Given the description of an element on the screen output the (x, y) to click on. 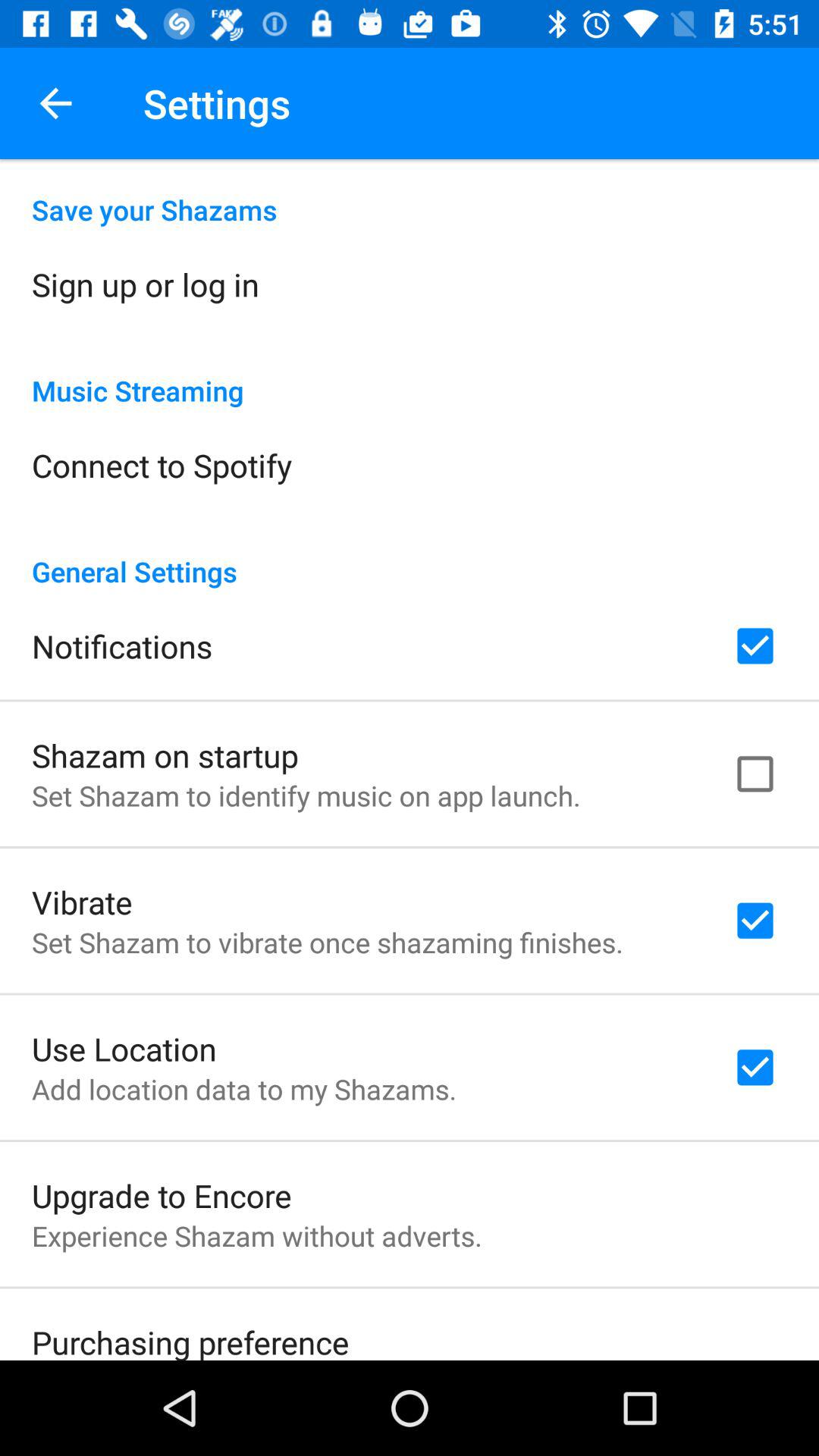
press the icon below the add location data item (161, 1195)
